Given the description of an element on the screen output the (x, y) to click on. 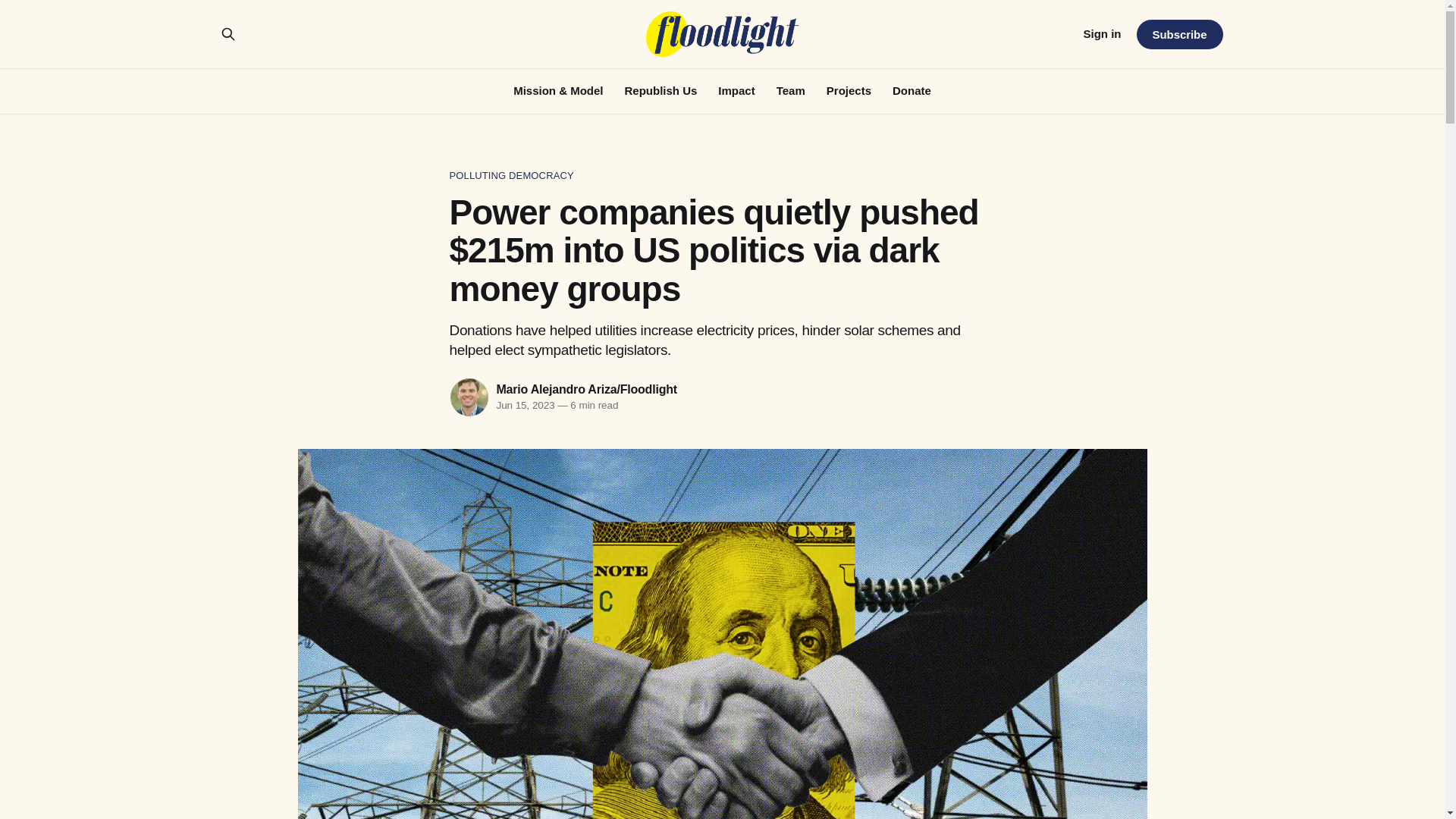
Subscribe (1179, 34)
Republish Us (660, 90)
Sign in (1102, 34)
Projects (848, 90)
Impact (735, 90)
POLLUTING DEMOCRACY (721, 176)
Team (790, 90)
Donate (911, 90)
